Given the description of an element on the screen output the (x, y) to click on. 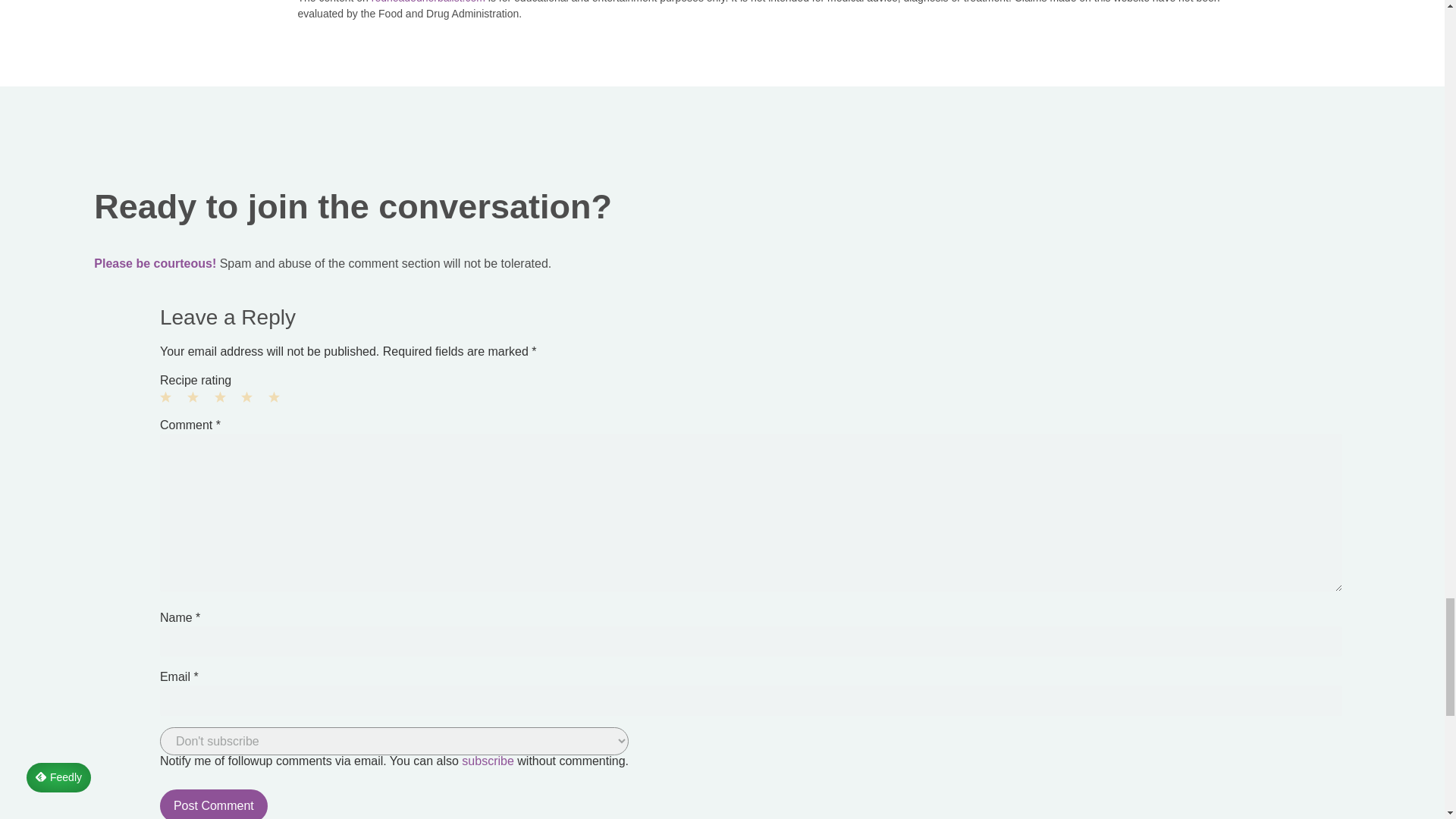
Post Comment (213, 804)
